Given the description of an element on the screen output the (x, y) to click on. 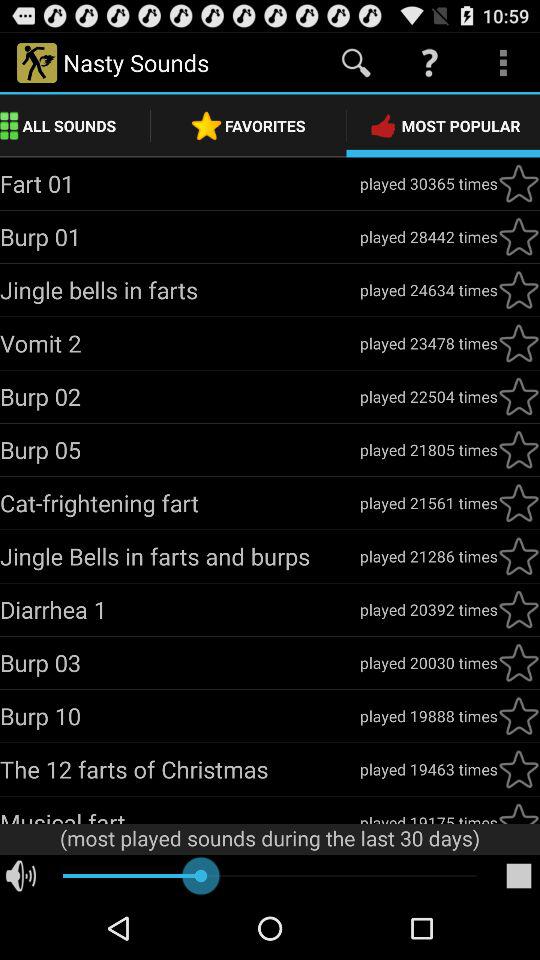
add to favorite (519, 769)
